Given the description of an element on the screen output the (x, y) to click on. 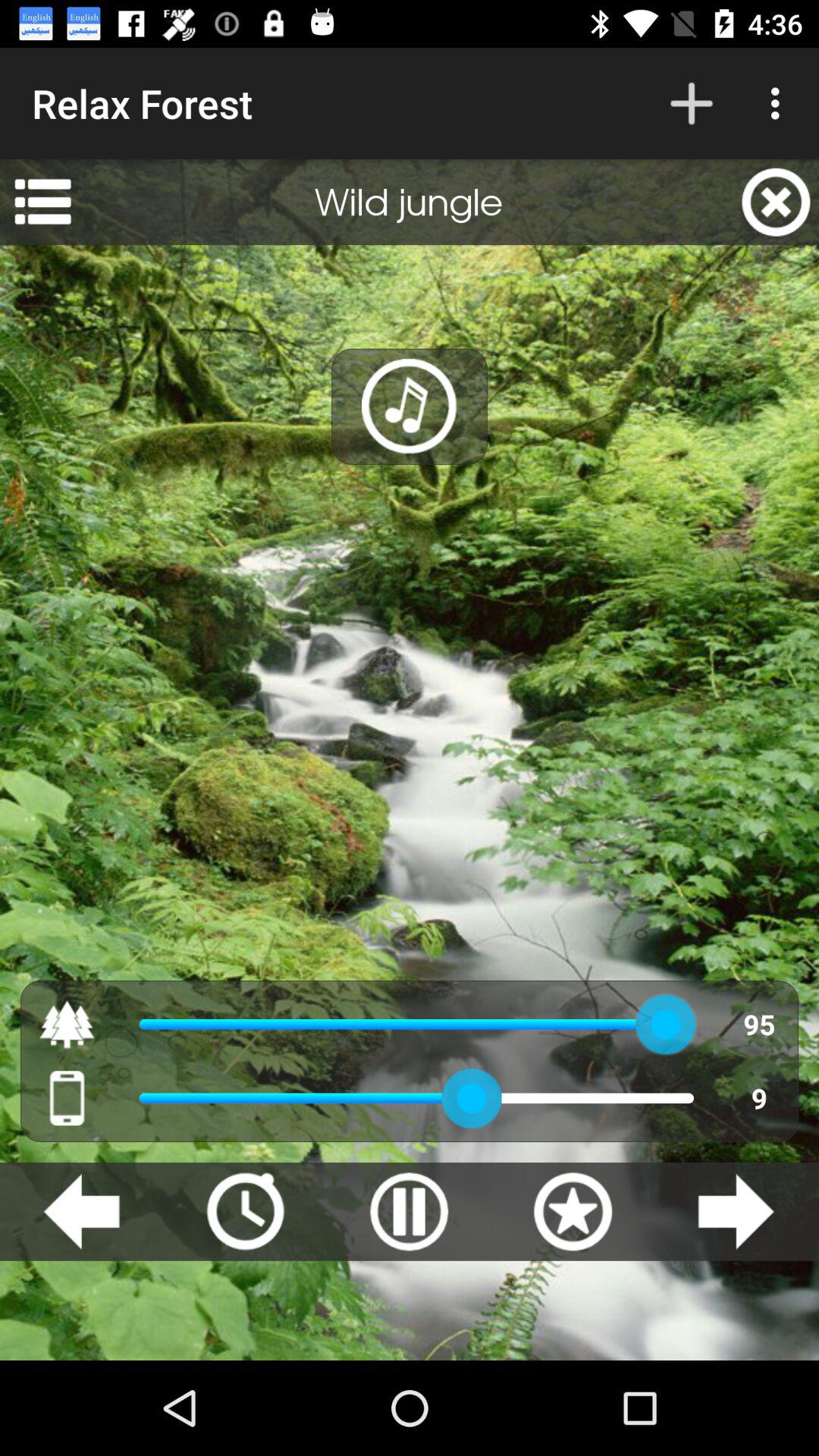
launch the icon below wild jungle app (409, 406)
